Given the description of an element on the screen output the (x, y) to click on. 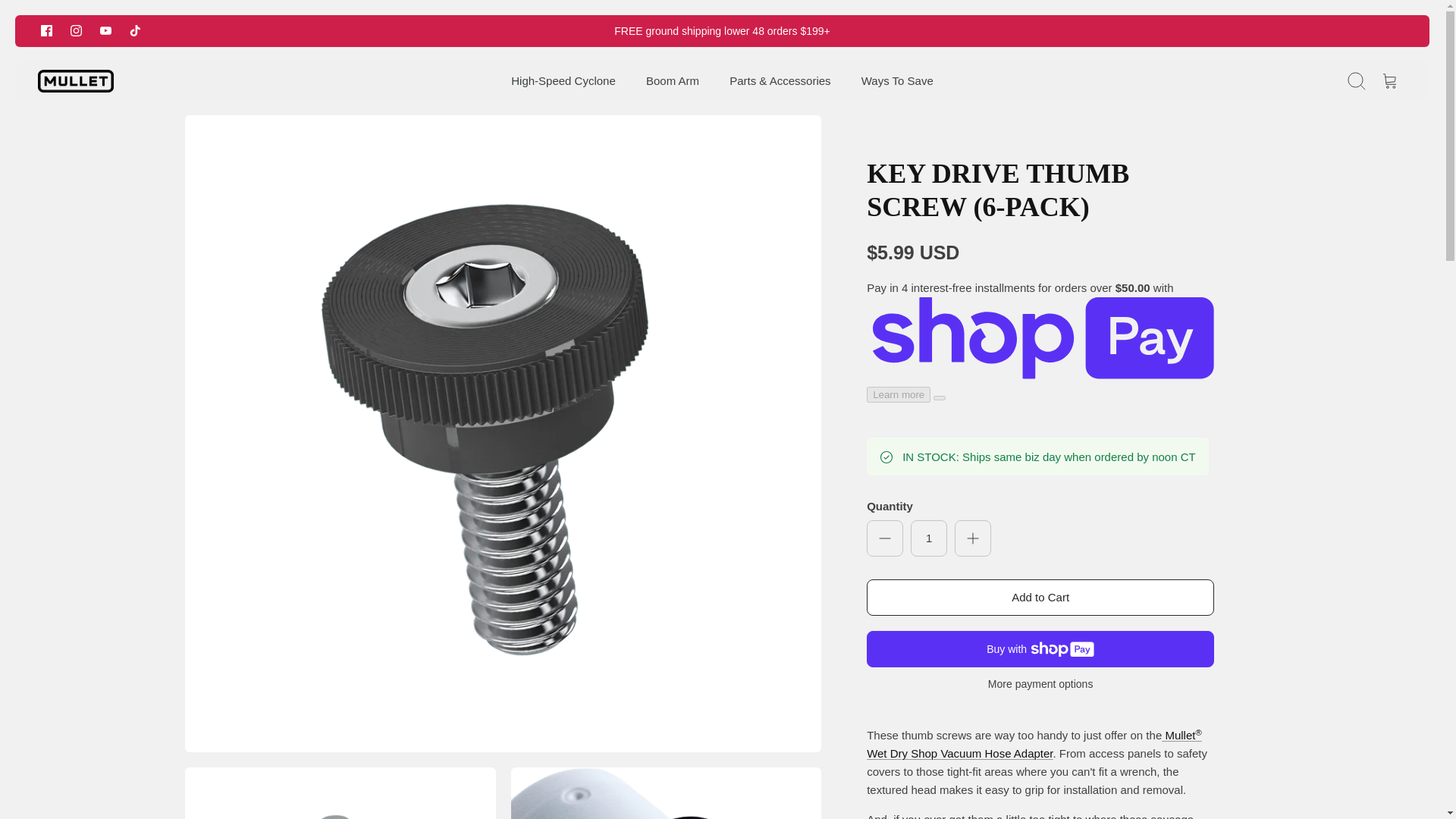
High-Speed Cyclone (562, 81)
Youtube (105, 30)
Instagram (75, 30)
Facebook (46, 30)
Instagram (75, 30)
Mullet Tools (75, 81)
Mullet Wet Dry Shop Vacuum and Cyclone Hose Adapter (1034, 744)
Facebook (46, 30)
Youtube (106, 30)
1 (929, 538)
Boom Arm (672, 81)
